Given the description of an element on the screen output the (x, y) to click on. 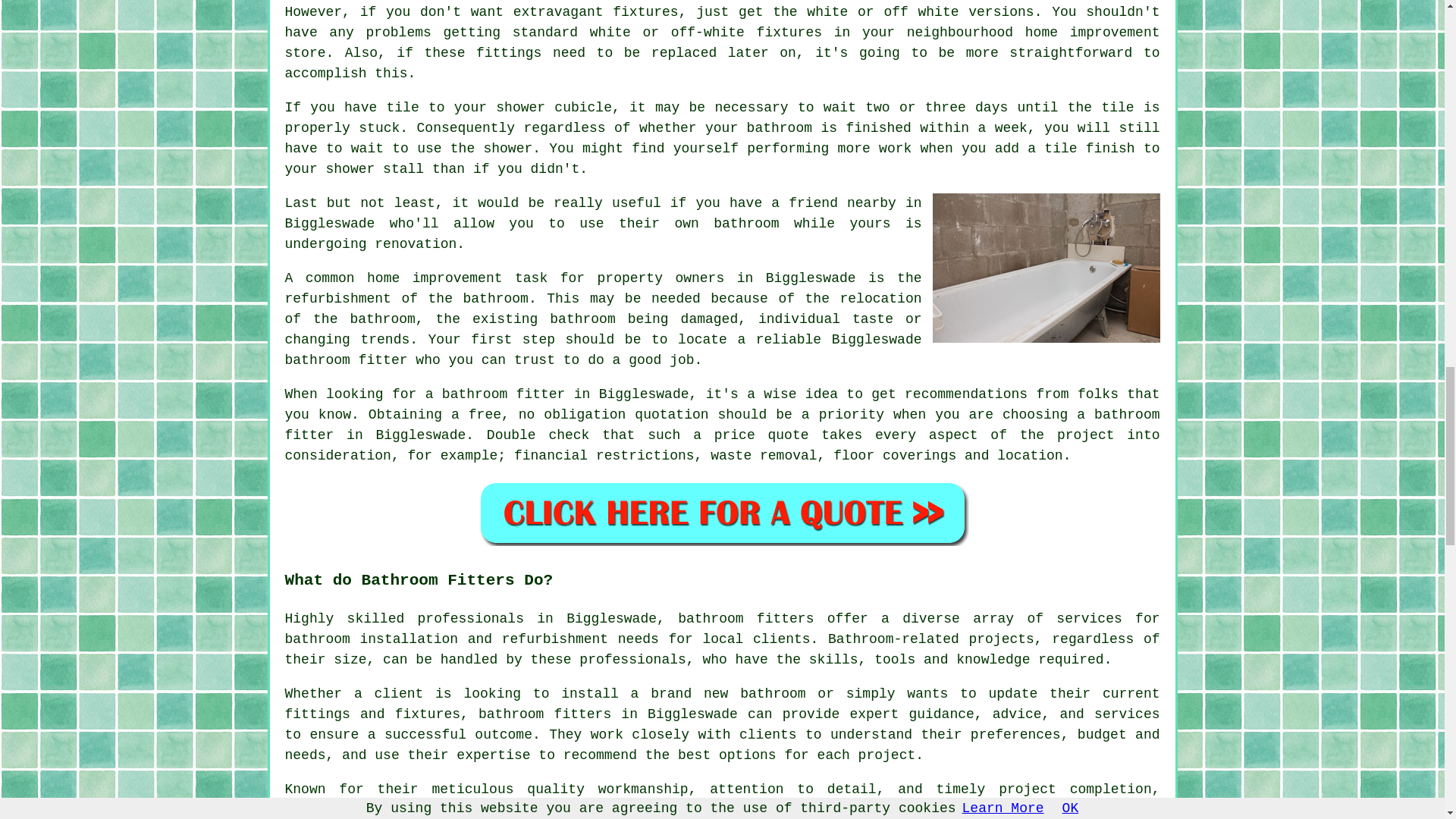
Click For Bathroom Fitters Biggleswade (722, 512)
Bathroom Fitter Biggleswade (1046, 268)
bathroom fitters (745, 618)
